Given the description of an element on the screen output the (x, y) to click on. 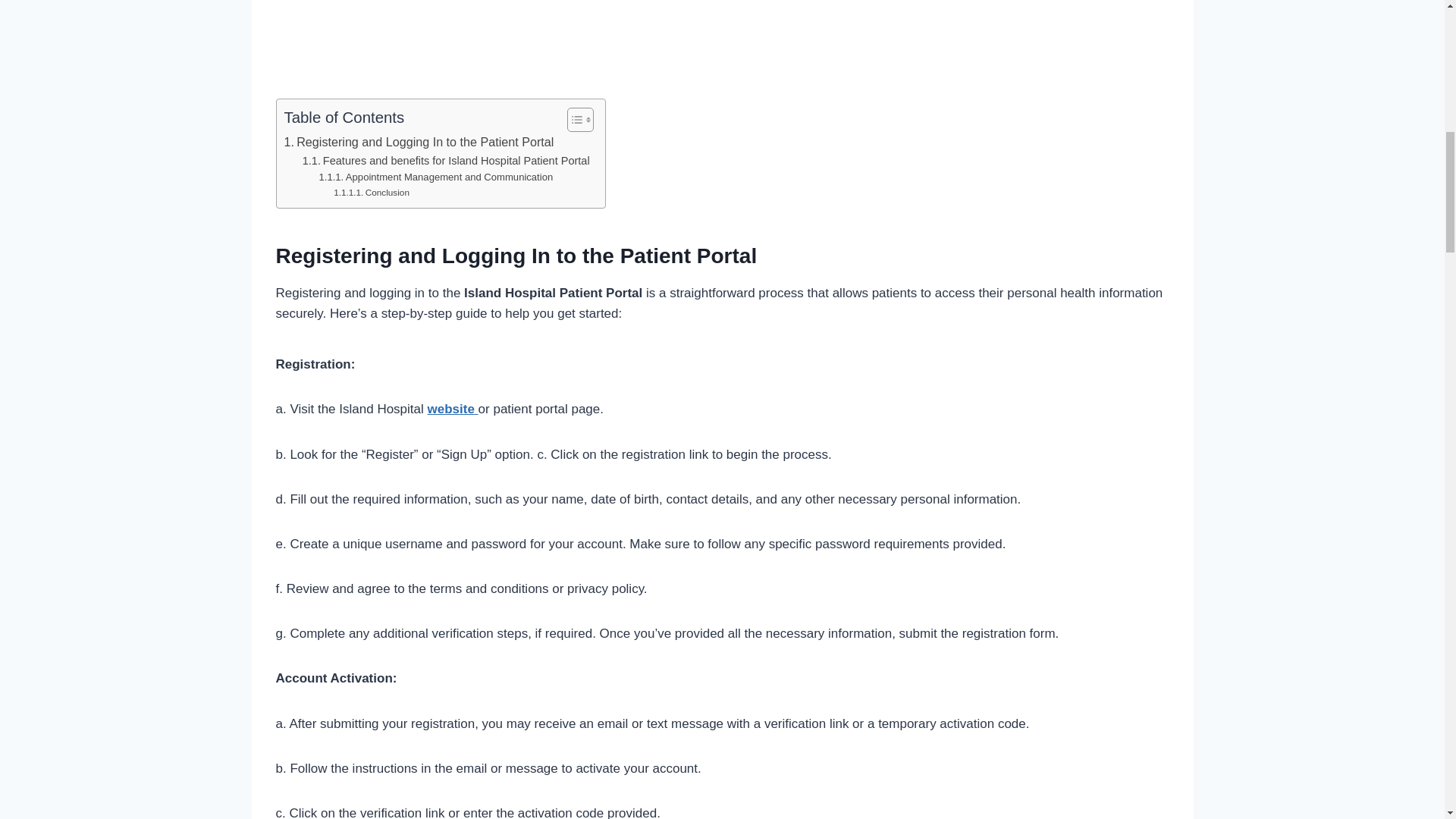
Conclusion (371, 192)
Features and benefits for Island Hospital Patient Portal (445, 160)
Conclusion (371, 192)
Registering and Logging In to the Patient Portal (418, 142)
Registering and Logging In to the Patient Portal (418, 142)
Appointment Management and Communication (435, 177)
Features and benefits for Island Hospital Patient Portal (445, 160)
Appointment Management and Communication (435, 177)
Advertisement (722, 46)
website (453, 409)
